Given the description of an element on the screen output the (x, y) to click on. 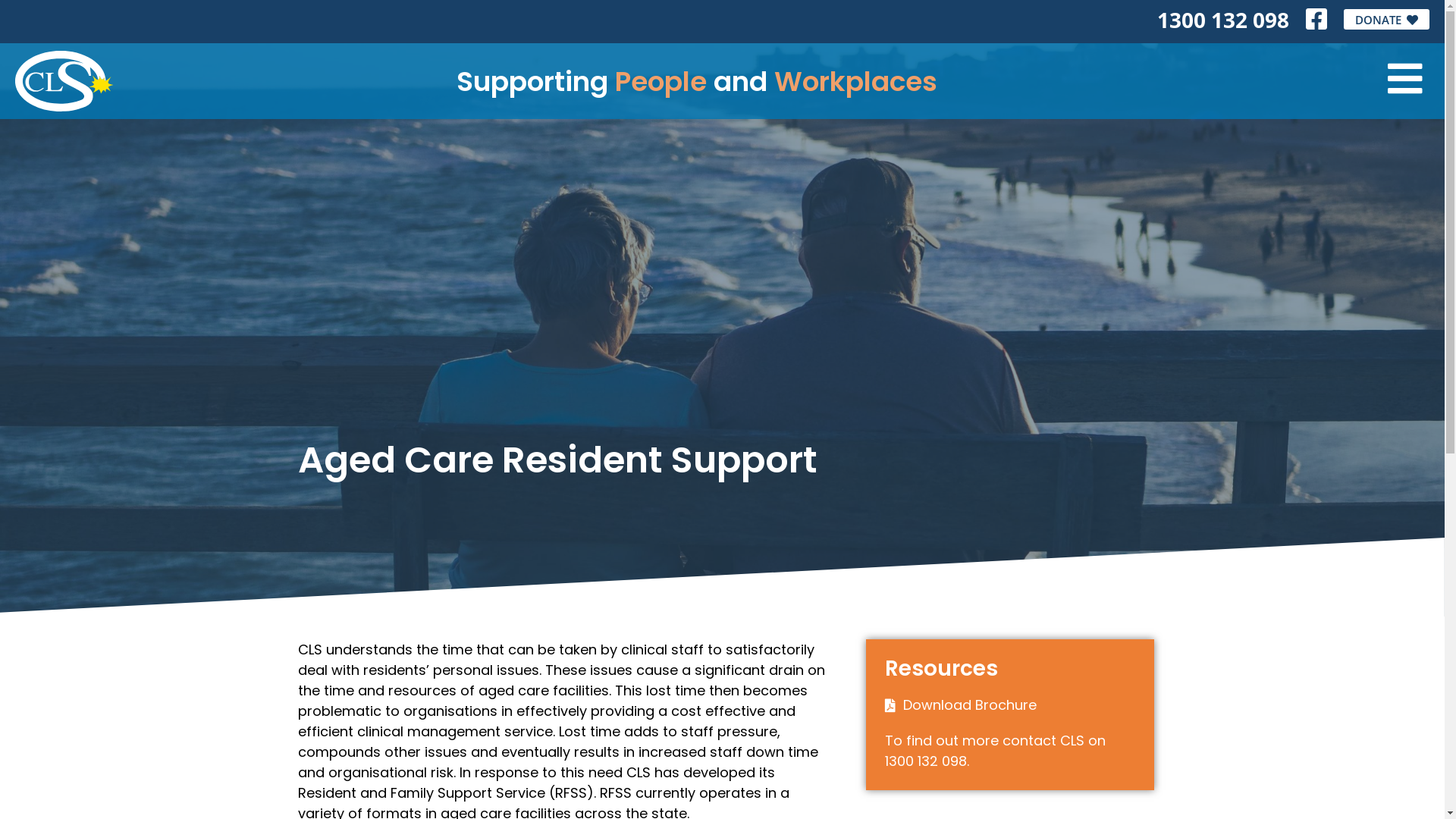
DONATE Element type: text (1386, 19)
CLS_logo Element type: hover (63, 80)
Download Brochure Element type: text (969, 704)
1300 132 098 Element type: text (1223, 19)
